Given the description of an element on the screen output the (x, y) to click on. 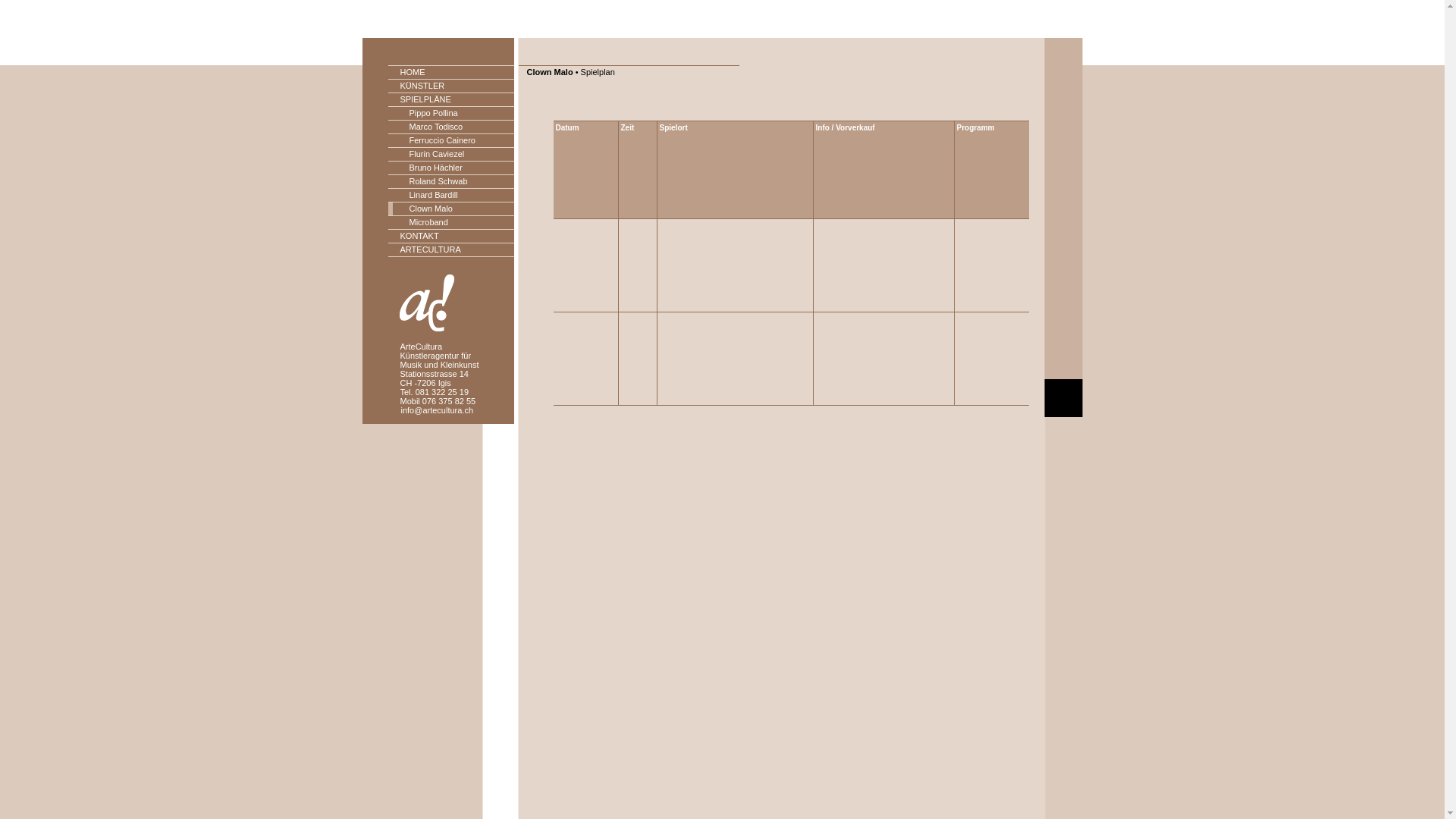
Roland Schwab Element type: text (451, 181)
ARTECULTURA Element type: text (451, 250)
Clown Malo Element type: text (451, 209)
info@artecultura.ch Element type: text (436, 409)
Marco Todisco Element type: text (451, 127)
Flurin Caviezel Element type: text (451, 154)
Microband Element type: text (451, 222)
Pippo Pollina Element type: text (451, 113)
KONTAKT Element type: text (451, 236)
Ferruccio Cainero Element type: text (451, 140)
HOME Element type: text (451, 72)
Linard Bardill Element type: text (451, 195)
